Given the description of an element on the screen output the (x, y) to click on. 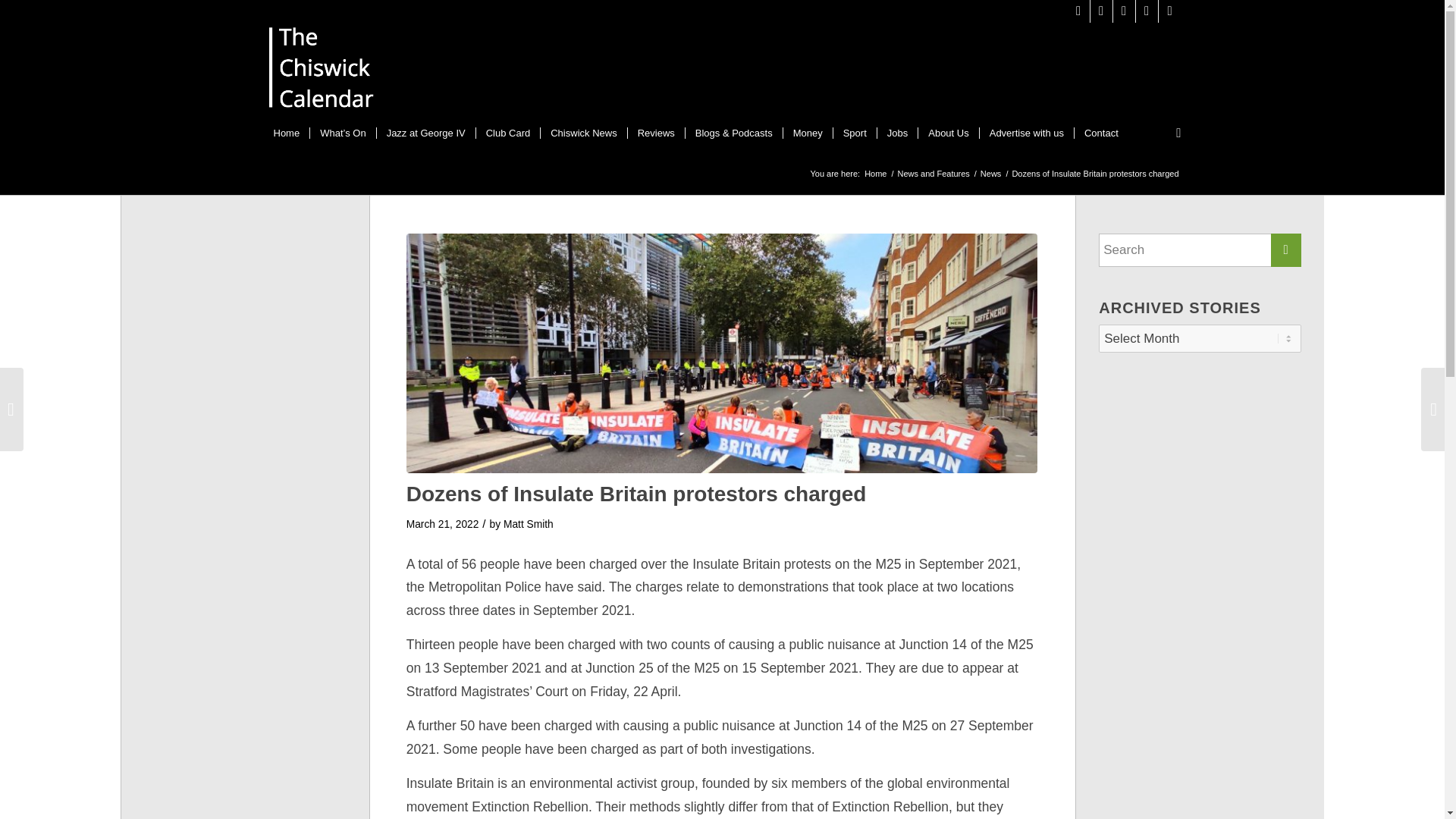
Home (286, 133)
TCC-white-on-white (321, 70)
Mail (1169, 11)
Facebook (1124, 11)
The Chiswick Calendar (874, 173)
Youtube (1146, 11)
Club Card (508, 133)
Posts by Matt Smith (528, 523)
X (1078, 11)
Jazz at George IV (425, 133)
